Given the description of an element on the screen output the (x, y) to click on. 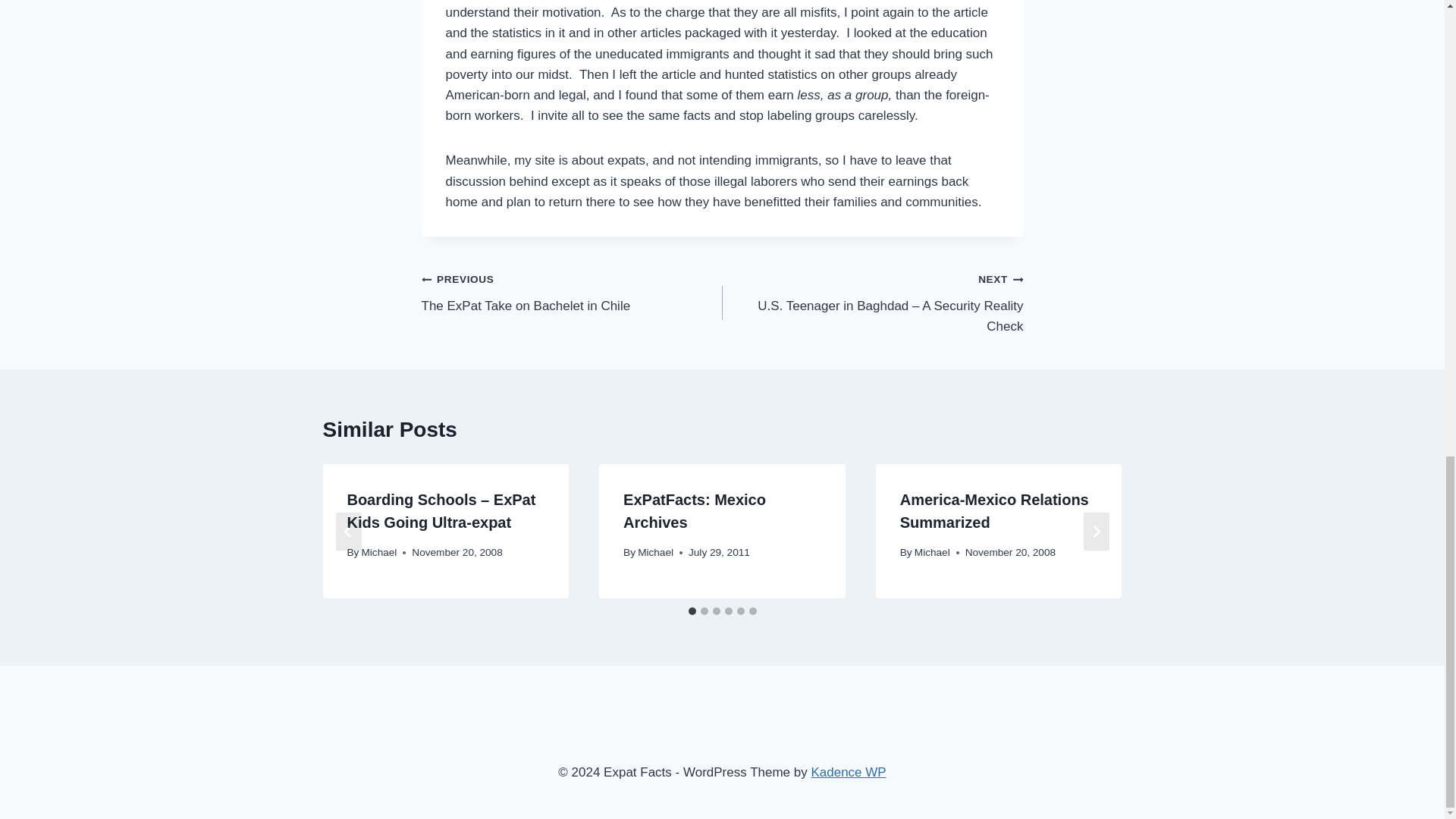
Michael (379, 552)
